Given the description of an element on the screen output the (x, y) to click on. 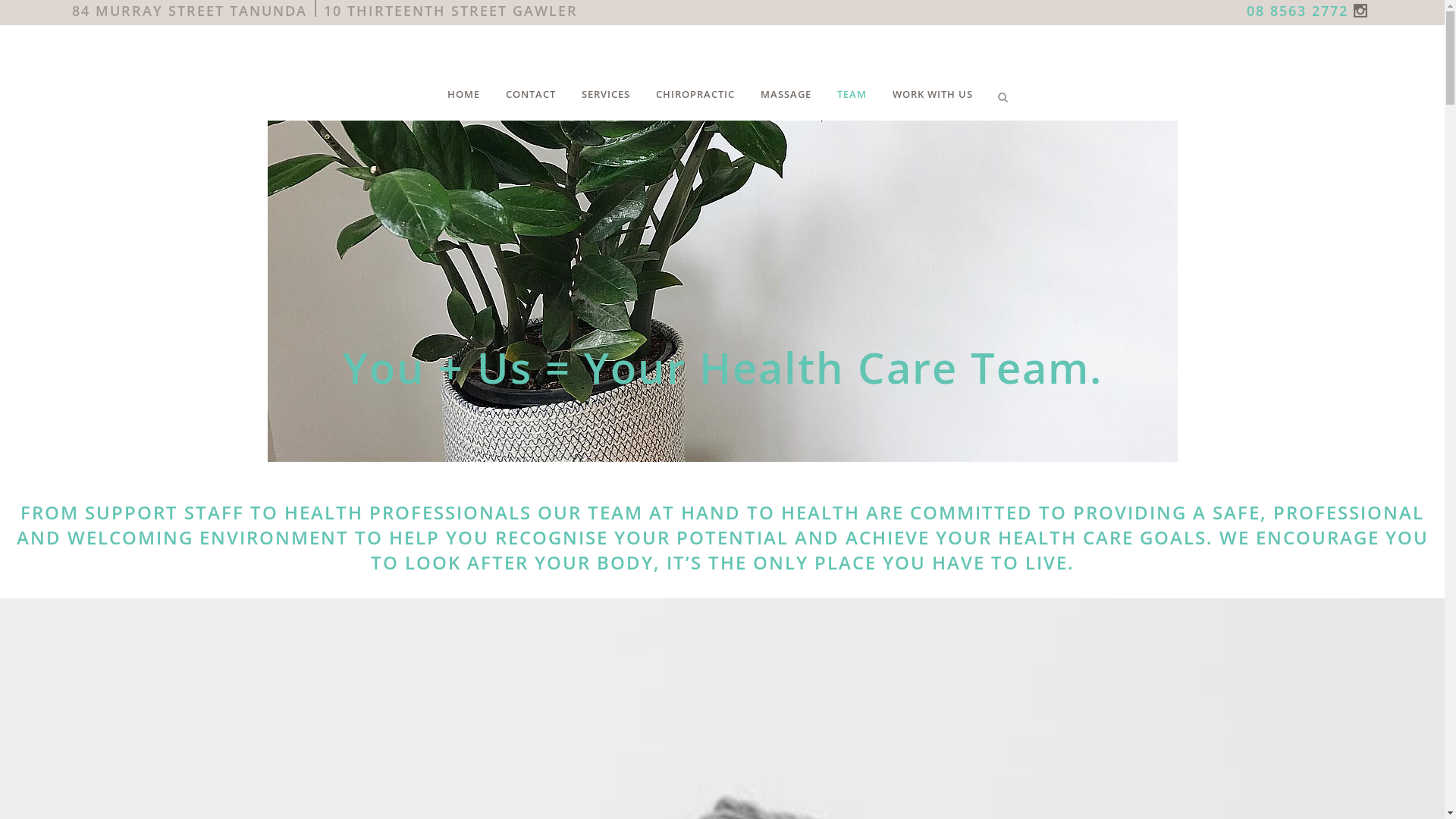
MASSAGE Element type: text (785, 93)
HOME Element type: text (463, 93)
TEAM Element type: text (851, 93)
CHIROPRACTIC Element type: text (695, 93)
WORK WITH US Element type: text (932, 93)
CONTACT Element type: text (530, 93)
SERVICES Element type: text (605, 93)
